Given the description of an element on the screen output the (x, y) to click on. 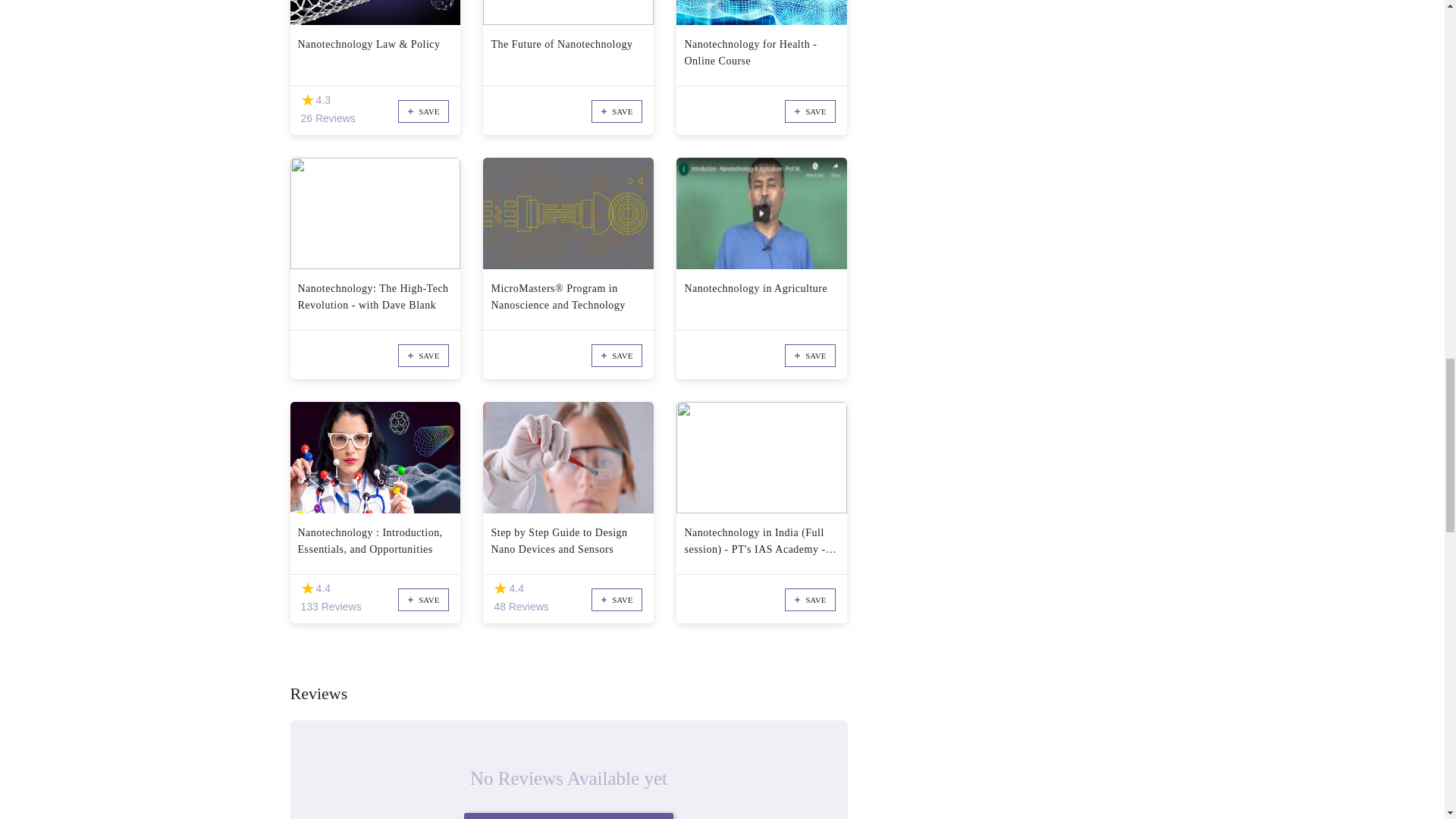
4.3 (306, 100)
4.4 (306, 588)
4.4 (499, 588)
